Given the description of an element on the screen output the (x, y) to click on. 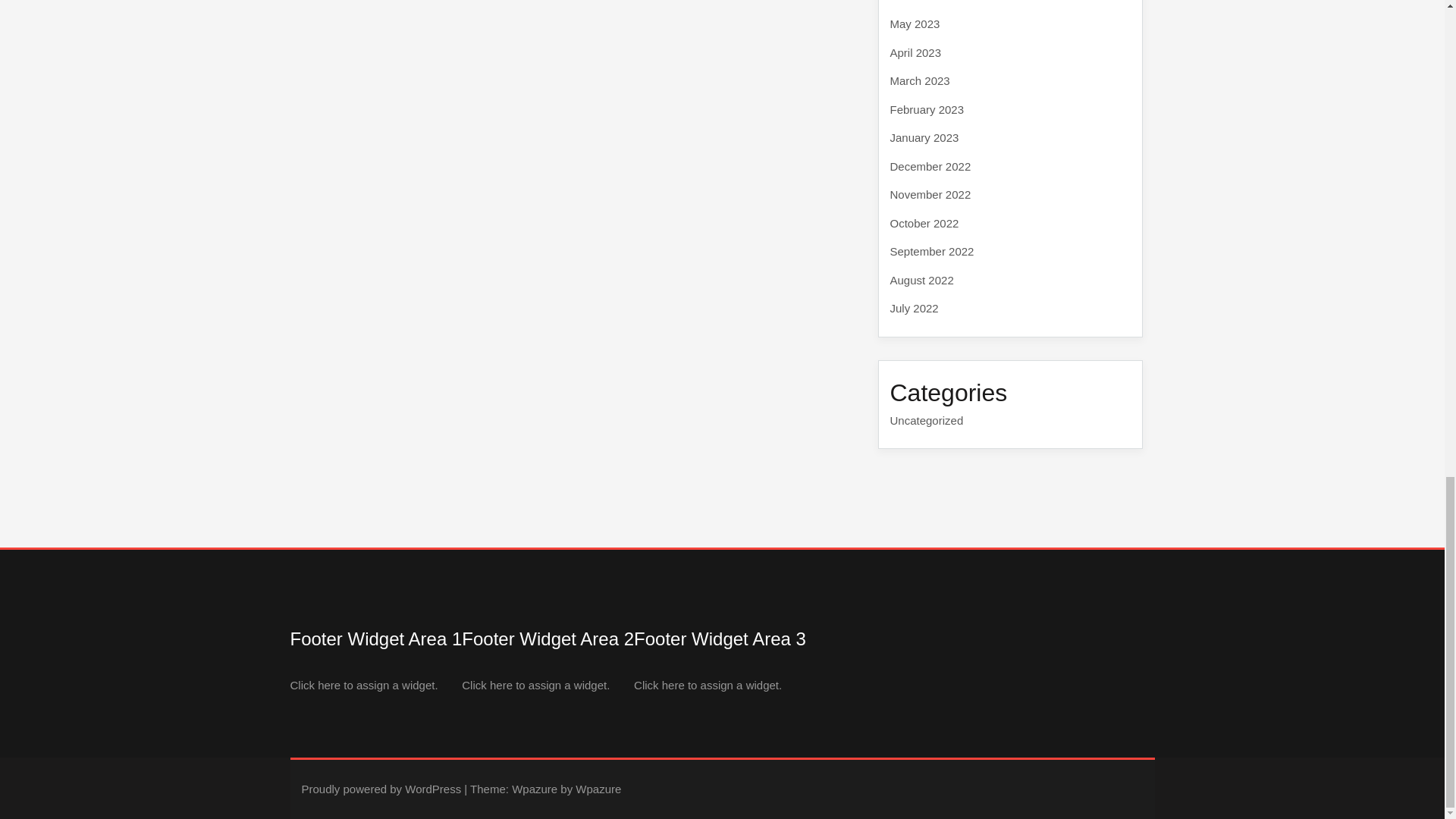
October 2022 (924, 222)
November 2022 (930, 194)
January 2023 (924, 137)
June 2023 (916, 0)
May 2023 (914, 23)
December 2022 (930, 165)
April 2023 (915, 51)
February 2023 (926, 108)
March 2023 (919, 80)
